Given the description of an element on the screen output the (x, y) to click on. 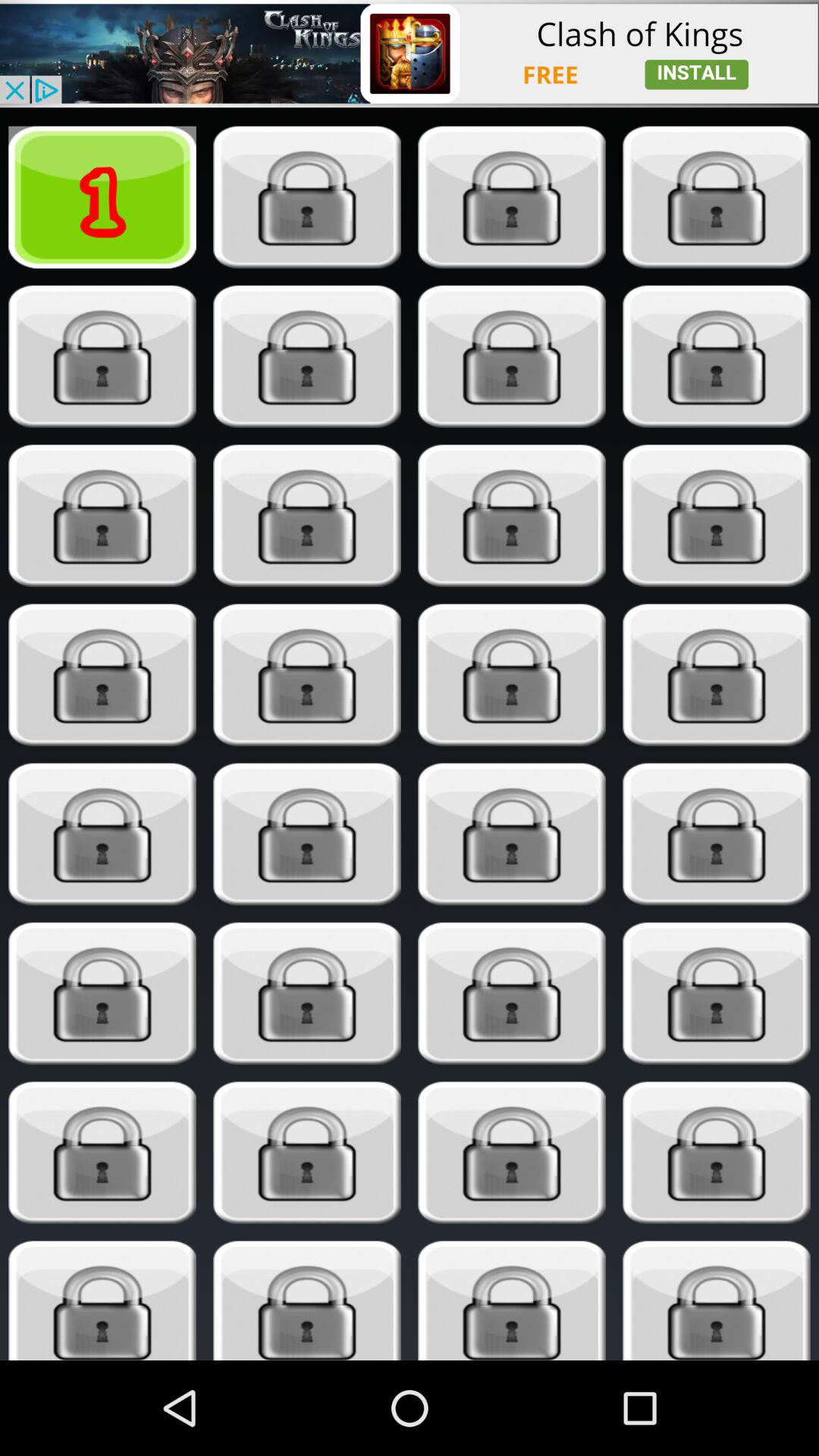
open locked app (306, 1300)
